Given the description of an element on the screen output the (x, y) to click on. 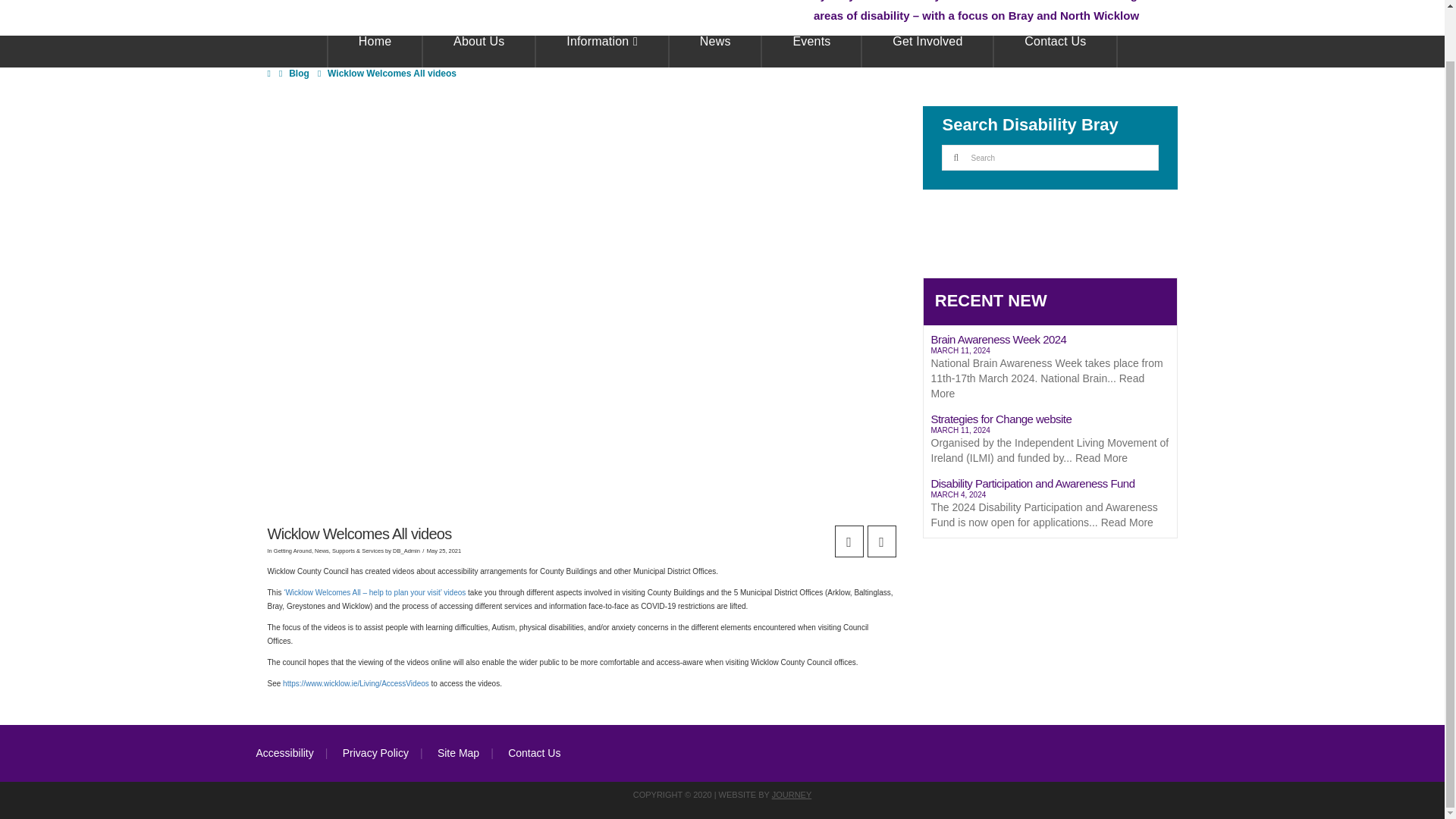
Home (374, 51)
Information (602, 51)
Permalink to: "Brain Awareness Week 2024" (1049, 368)
Events (811, 51)
You Are Here (392, 73)
News (715, 51)
Permalink to: "Disability Participation and Awareness Fund" (1049, 505)
Contact Us (1056, 51)
Permalink to: "Strategies for Change website" (1049, 440)
About Us (479, 51)
Get Involved (927, 51)
